Given the description of an element on the screen output the (x, y) to click on. 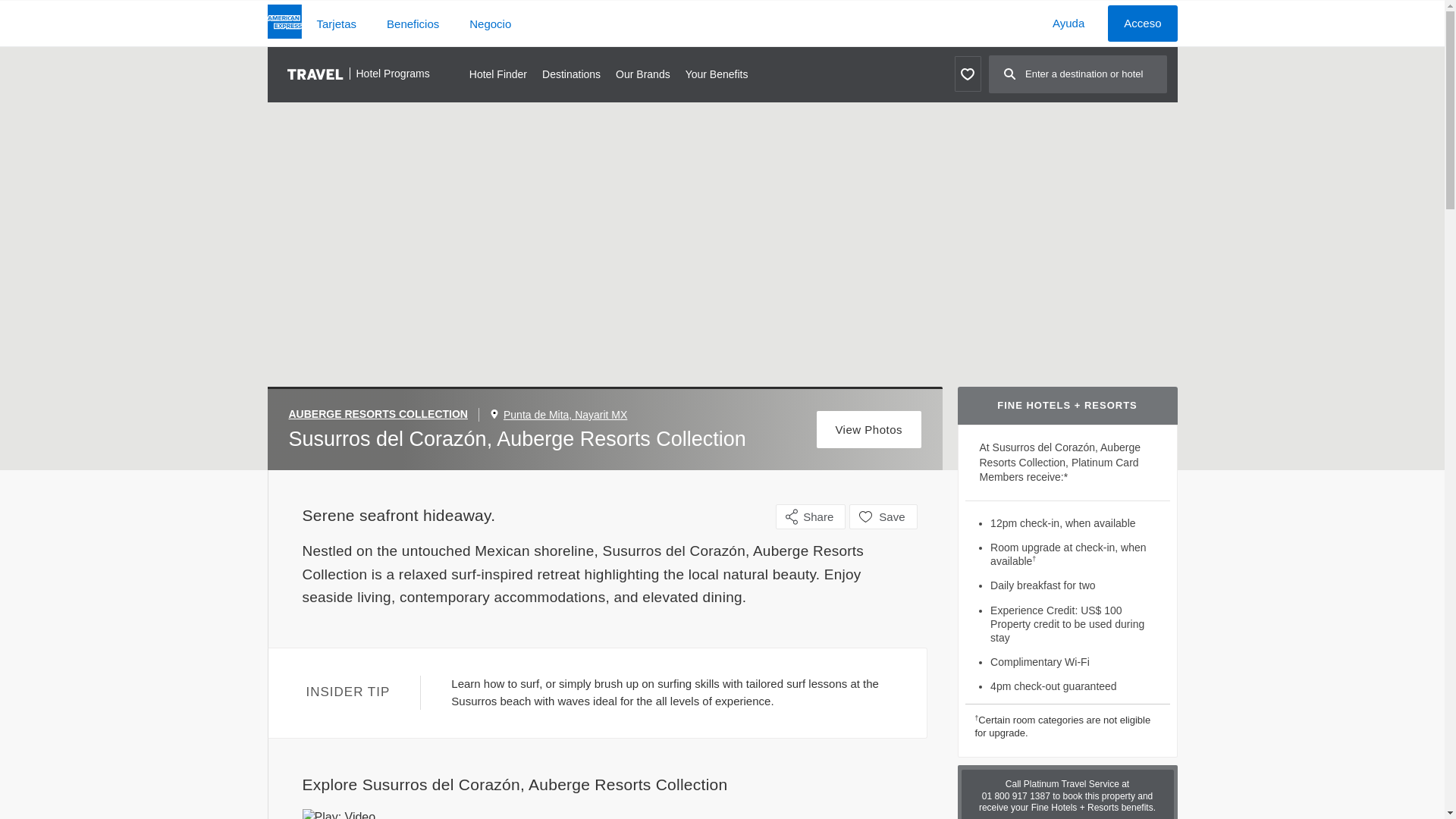
Hotel Finder (497, 73)
Play: Video (612, 814)
Share (810, 516)
Our Brands (642, 73)
AUBERGE RESORTS COLLECTION (383, 414)
Punta de Mita, Nayarit MX (565, 414)
Acceso (1142, 22)
Save (882, 516)
Ayuda (1068, 23)
Hotel Programs (357, 73)
Destinations (570, 73)
View Photos (868, 429)
